Given the description of an element on the screen output the (x, y) to click on. 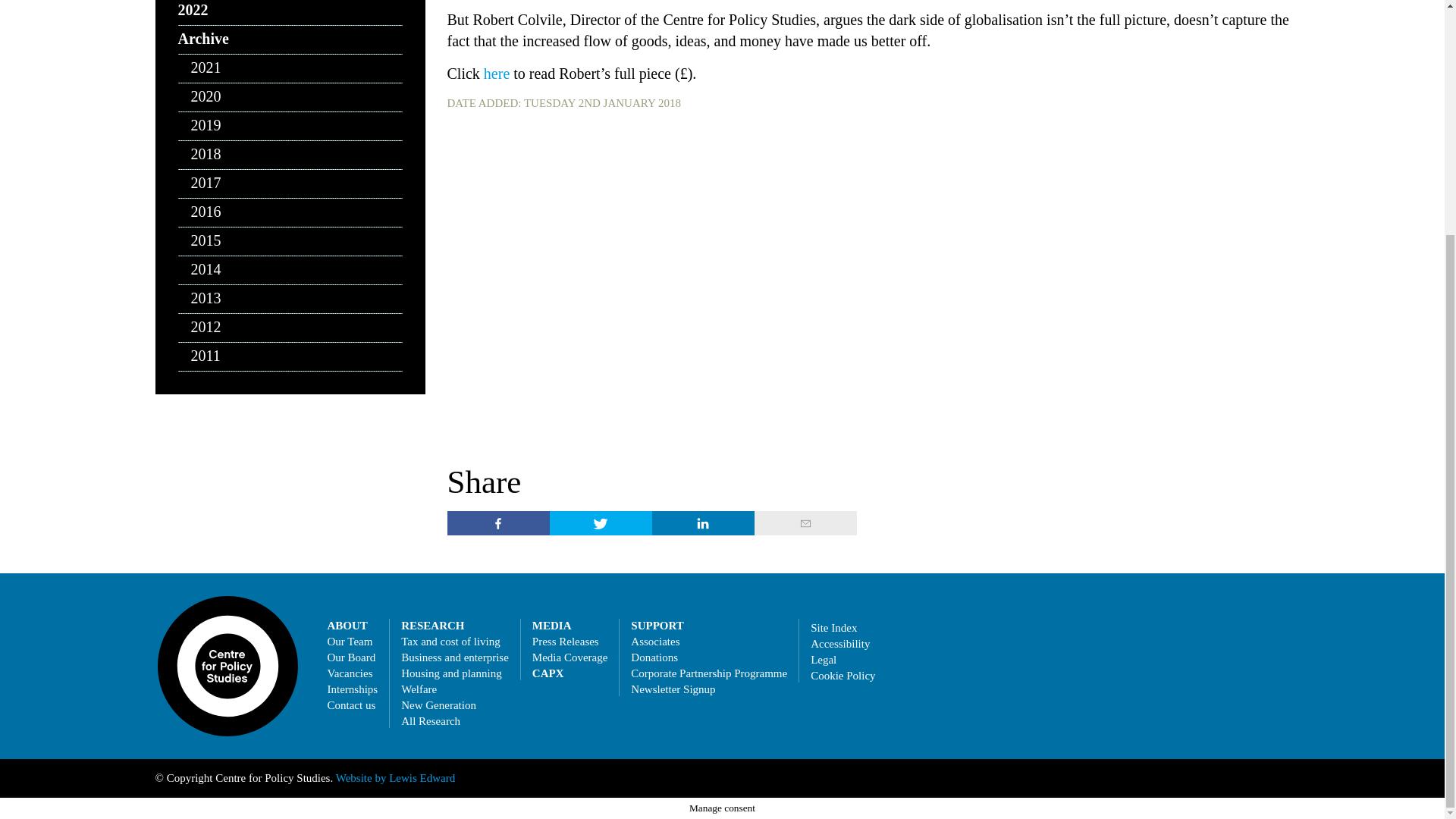
2014 (289, 270)
2021 (289, 68)
2012 (289, 328)
2013 (289, 299)
2019 (289, 126)
2016 (289, 213)
2011 (289, 357)
2018 (289, 154)
2022 (289, 12)
2020 (289, 97)
2017 (289, 184)
Archive (289, 39)
2015 (289, 241)
